Given the description of an element on the screen output the (x, y) to click on. 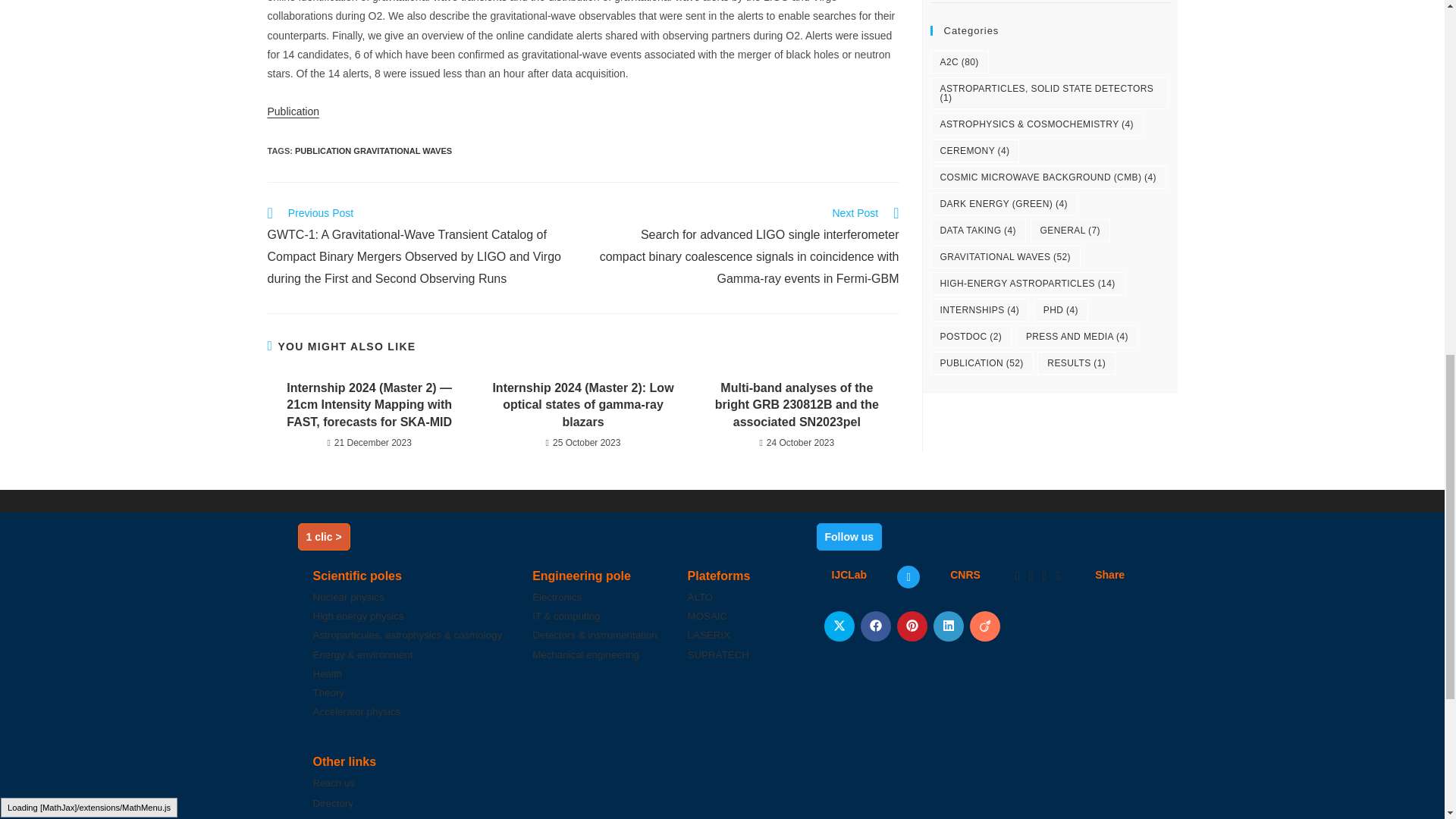
Share on Facebook (874, 625)
Share on LinkedIn (947, 625)
Share on Viadeo (983, 625)
Share on X (838, 625)
Share on Pinterest (911, 625)
